Given the description of an element on the screen output the (x, y) to click on. 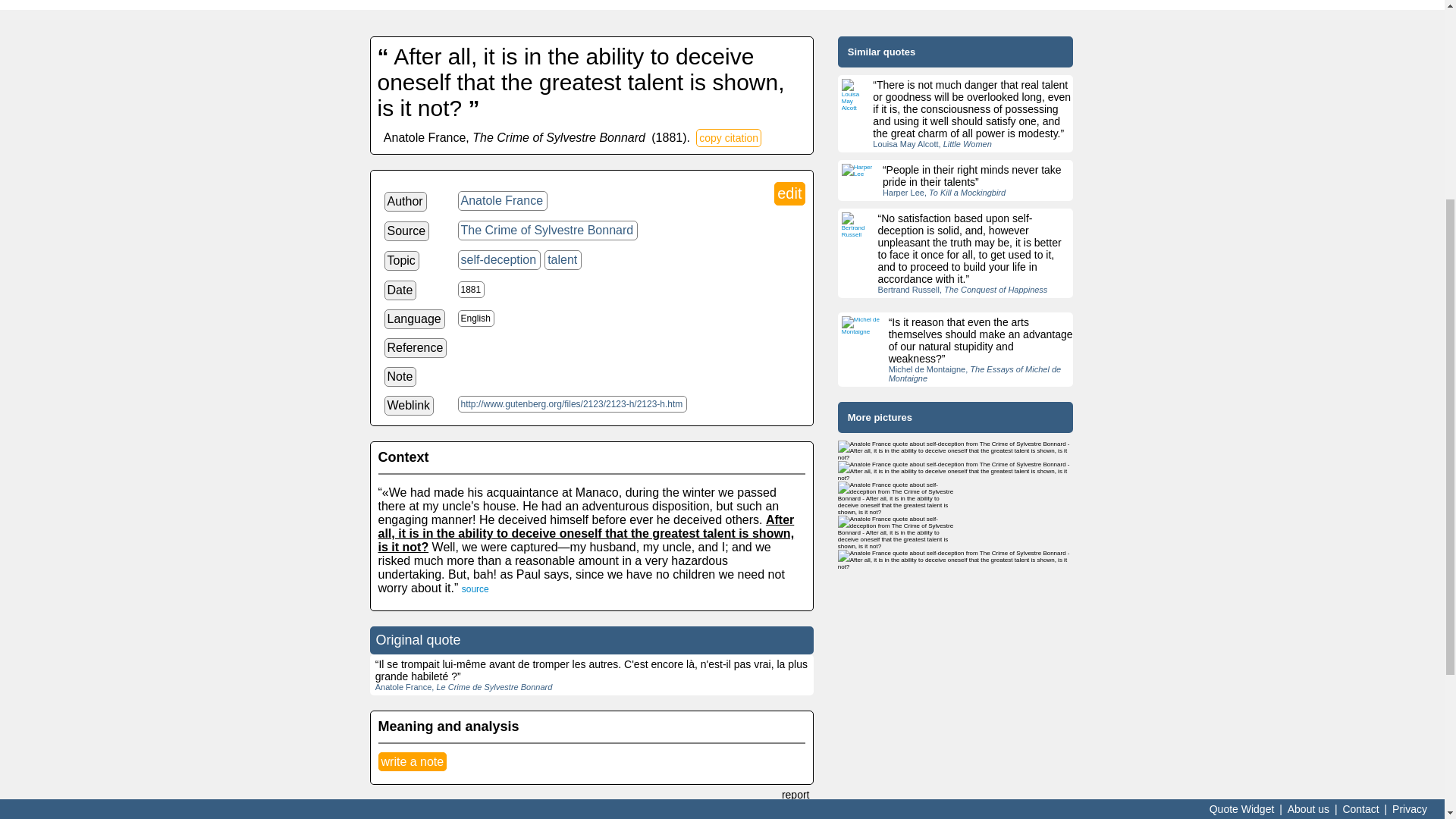
edit (789, 193)
copy citation (728, 137)
source (475, 588)
Privacy (1409, 484)
Anatole France (503, 200)
Contact (1359, 484)
About us (1308, 484)
Quote Widget (1241, 484)
write a note (411, 761)
self-deception (499, 260)
talent (562, 260)
